Given the description of an element on the screen output the (x, y) to click on. 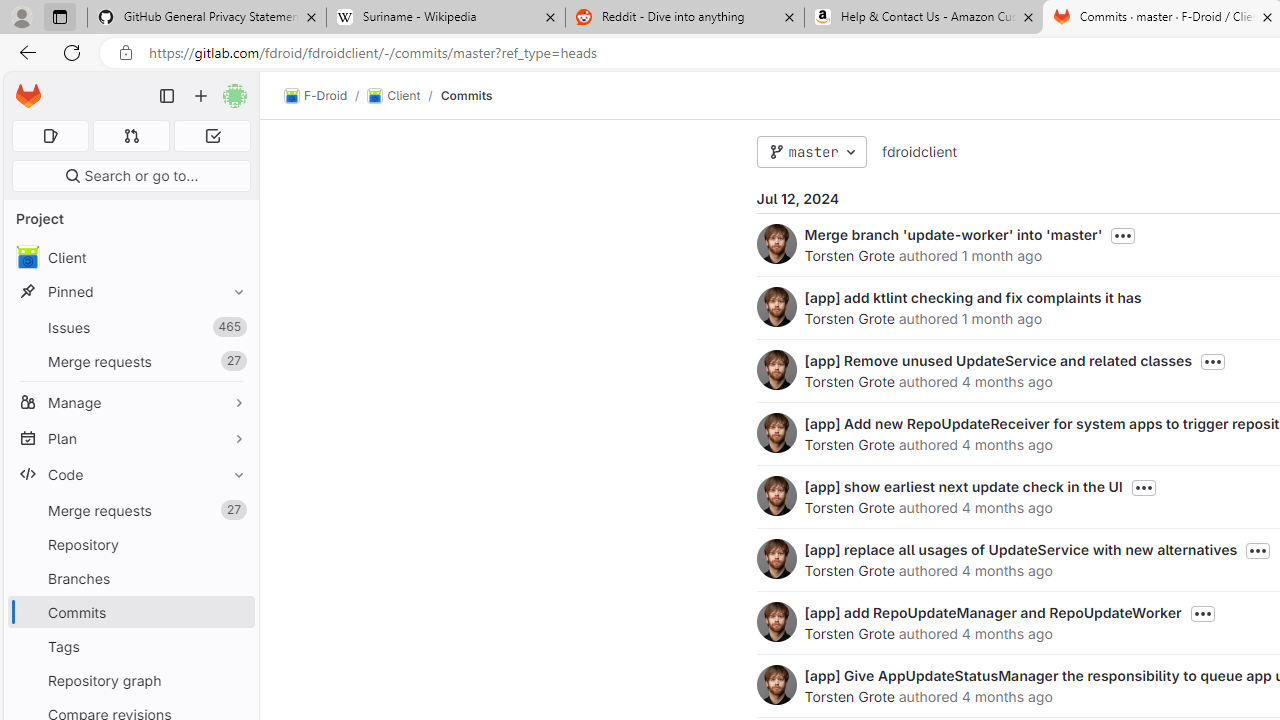
avatar Client (130, 257)
Merge requests 27 (130, 510)
Pin Tags (234, 646)
Issues 465 (130, 327)
Pin Commits (234, 611)
fdroidclient (918, 151)
Repository (130, 543)
Code (130, 474)
Pin Repository graph (234, 680)
Repository graph (130, 679)
Class: s16 gl-icon gl-button-icon  (1202, 614)
[app] Remove unused UpdateService and related classes (997, 360)
